Given the description of an element on the screen output the (x, y) to click on. 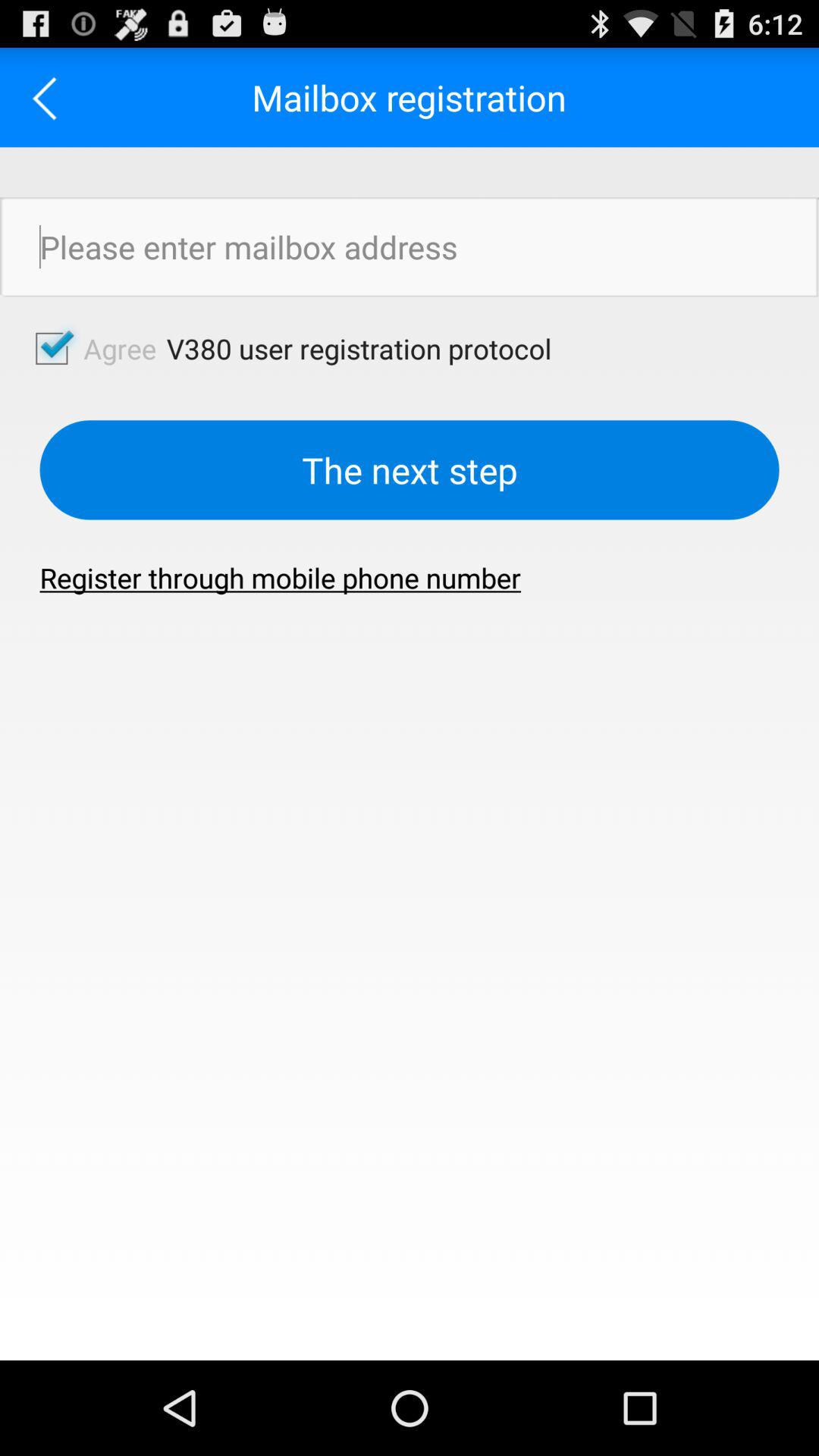
turn on the icon next to the mailbox registration app (49, 97)
